Given the description of an element on the screen output the (x, y) to click on. 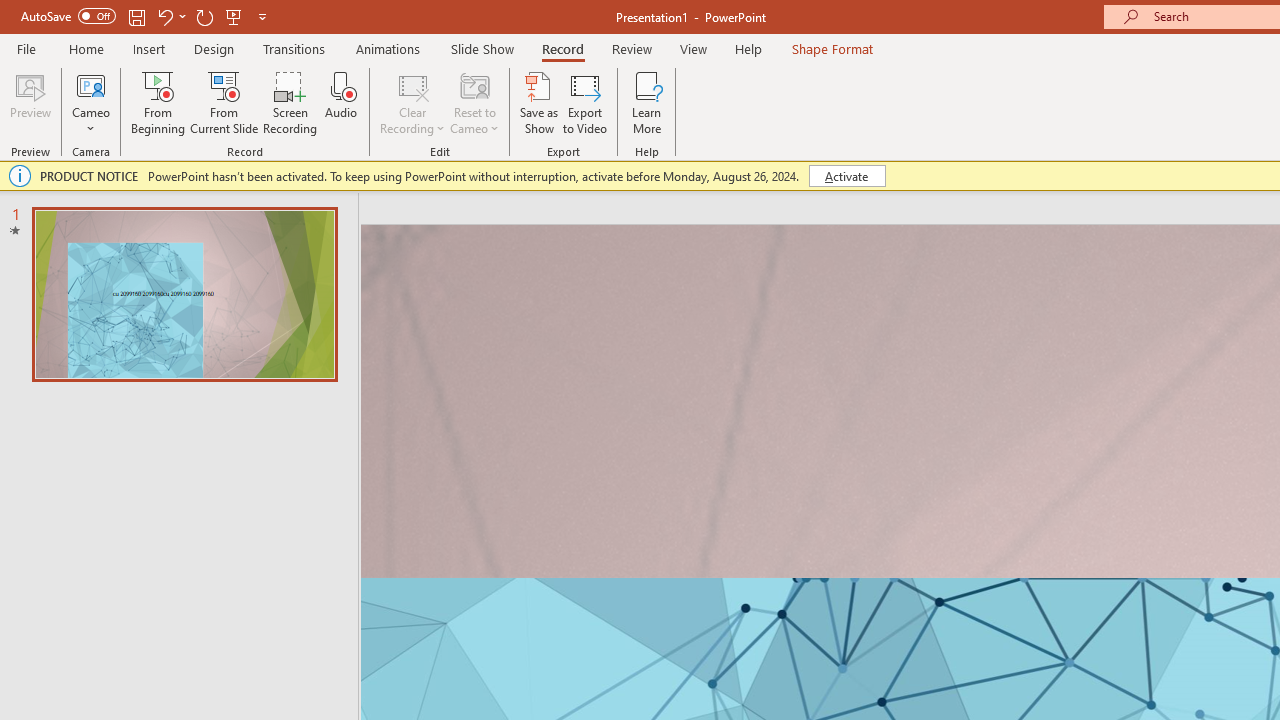
Cameo (91, 102)
Cameo (91, 84)
Shape Format (832, 48)
Preview (30, 102)
